Given the description of an element on the screen output the (x, y) to click on. 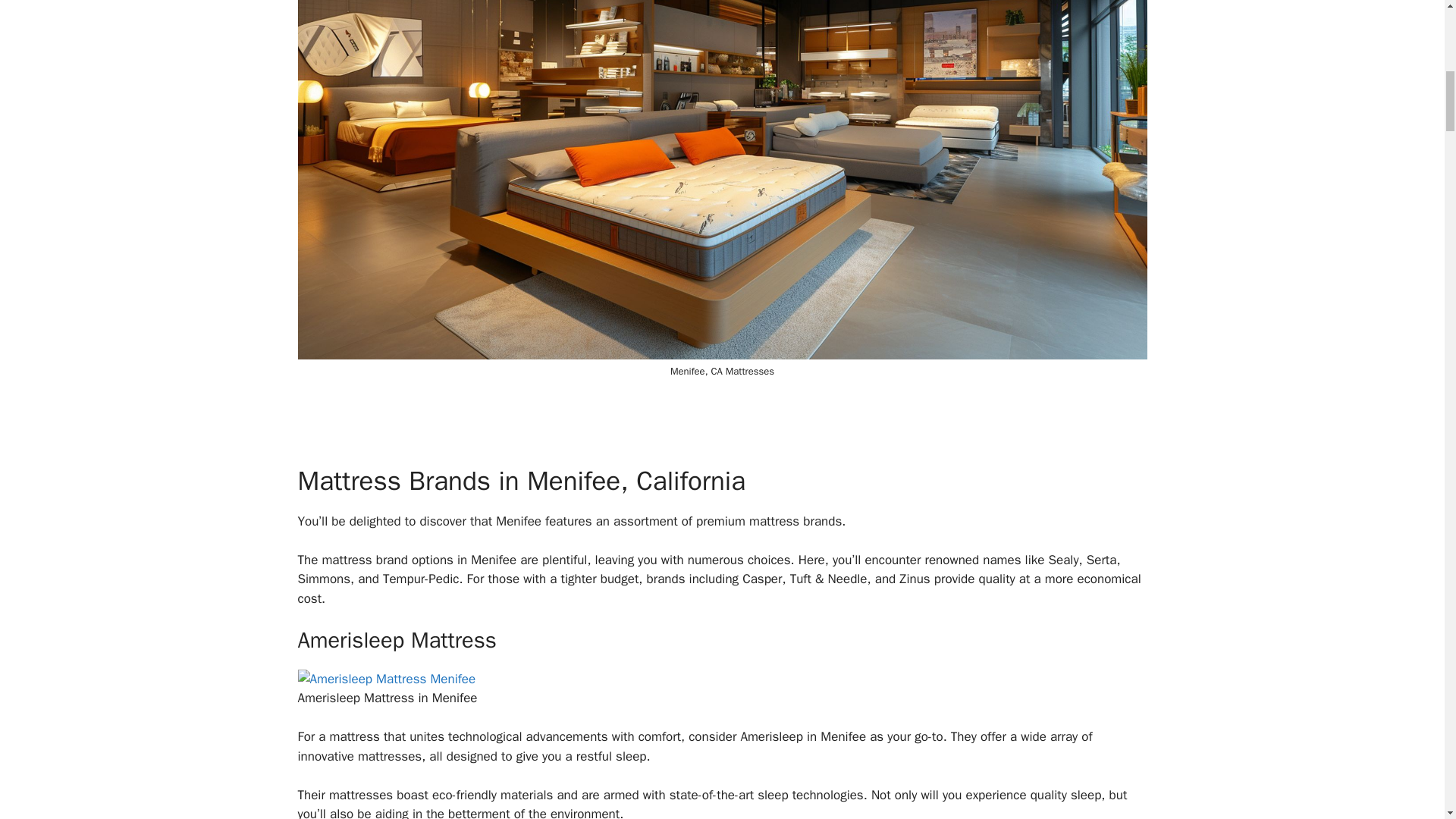
Amerisleep Mattress Menifee (386, 678)
